Given the description of an element on the screen output the (x, y) to click on. 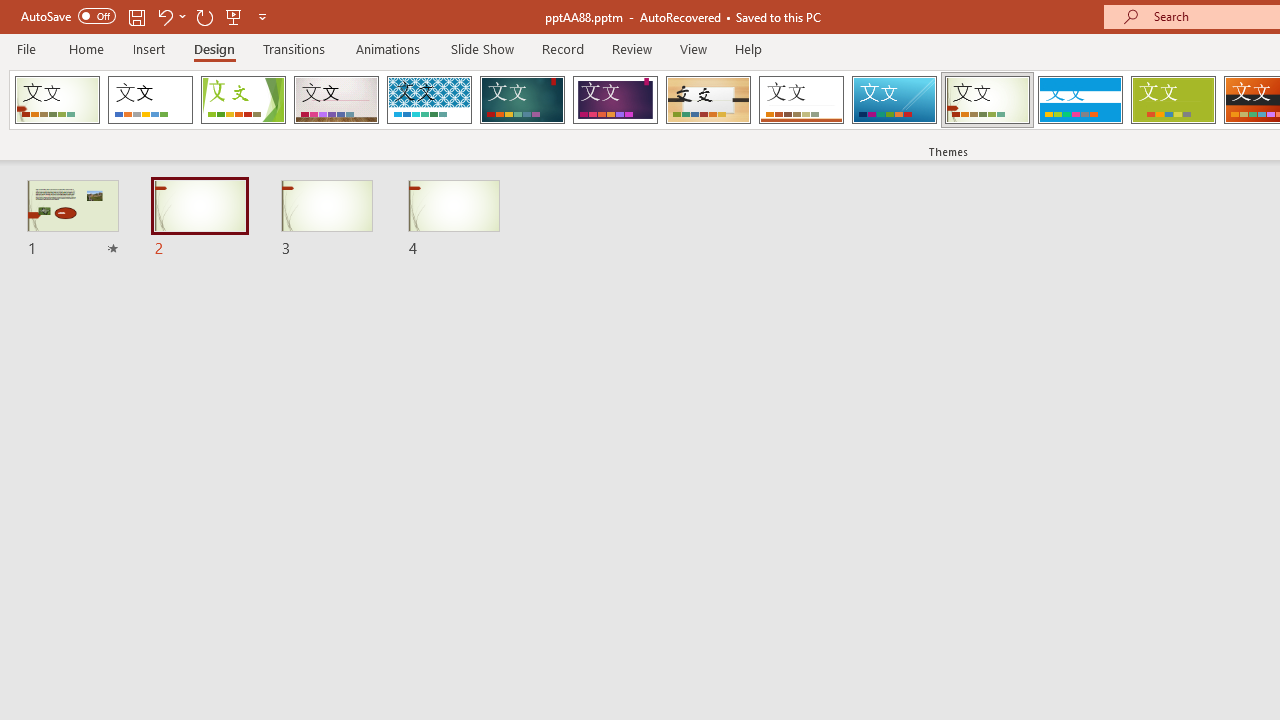
Facet (243, 100)
Banded Loading Preview... (1080, 100)
